Given the description of an element on the screen output the (x, y) to click on. 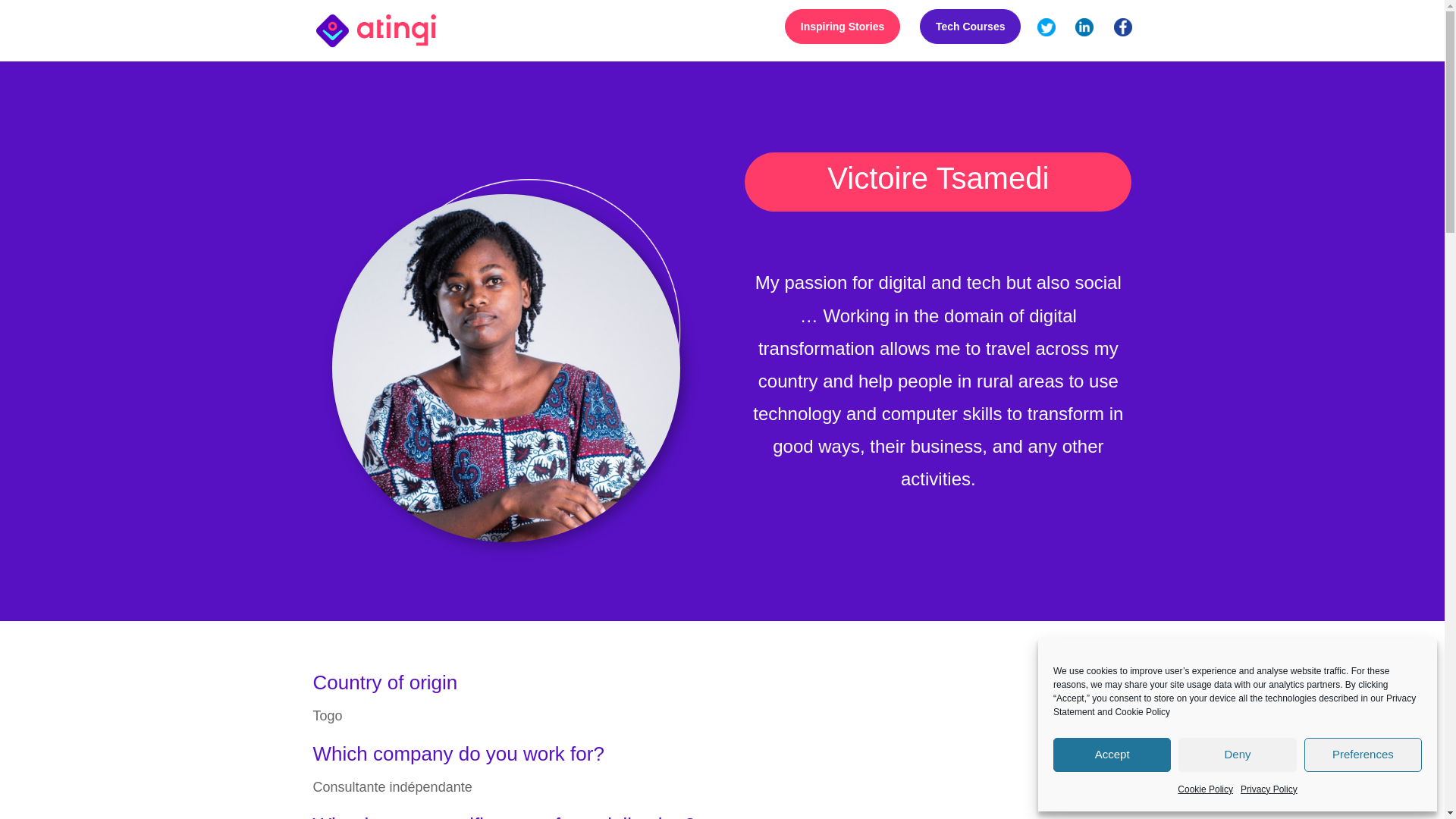
Tech Courses (971, 26)
Inspiring Stories (841, 26)
Cookie Policy (1142, 711)
Deny (1236, 754)
Victoire Tsamedi (505, 368)
Privacy Policy (1268, 789)
Privacy Statement (1233, 704)
Accept (1111, 754)
Preferences (1363, 754)
Cookie Policy (1205, 789)
